Given the description of an element on the screen output the (x, y) to click on. 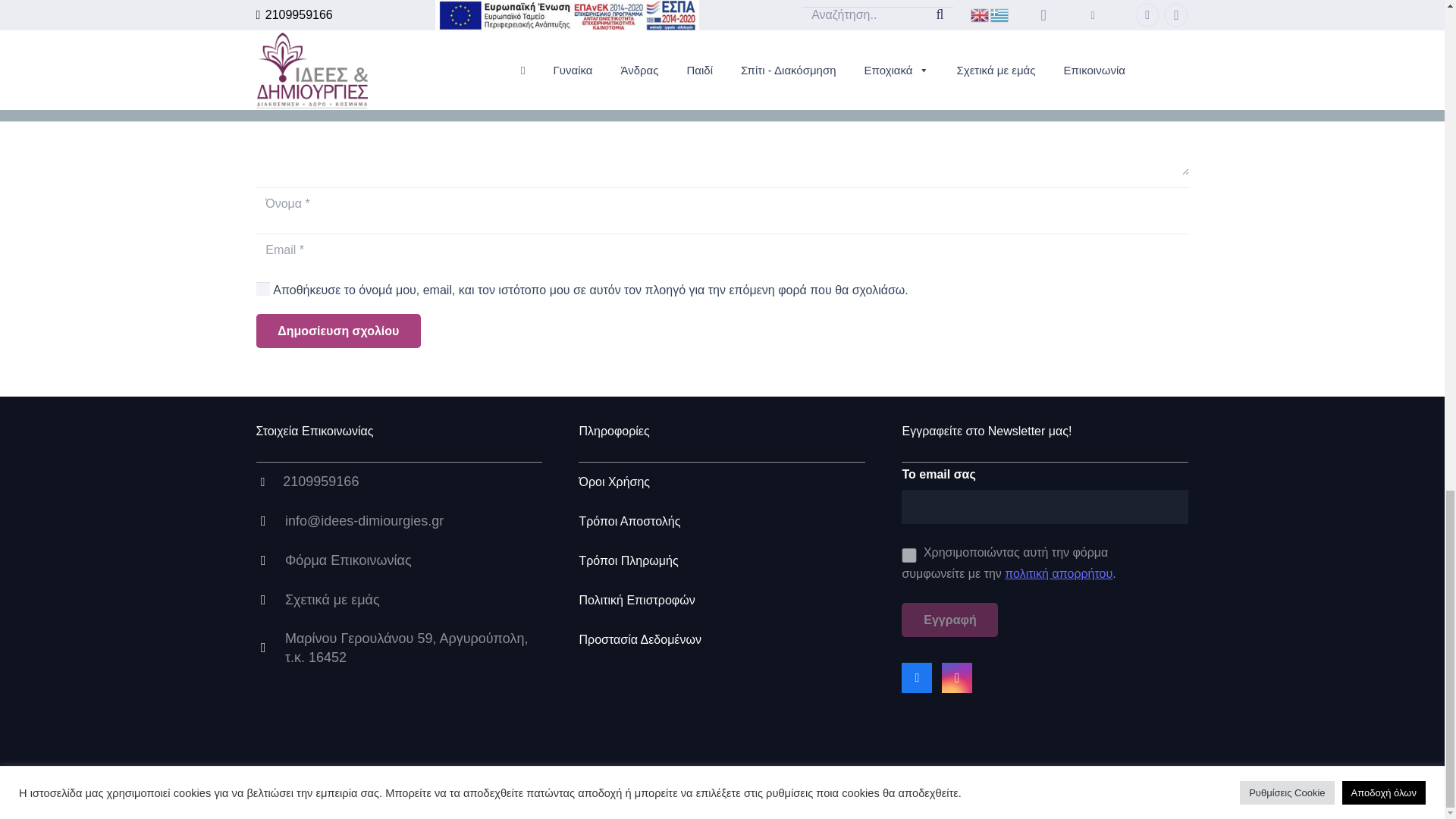
Facebook (916, 677)
1 (261, 288)
1 (908, 554)
Instagram (957, 677)
